Given the description of an element on the screen output the (x, y) to click on. 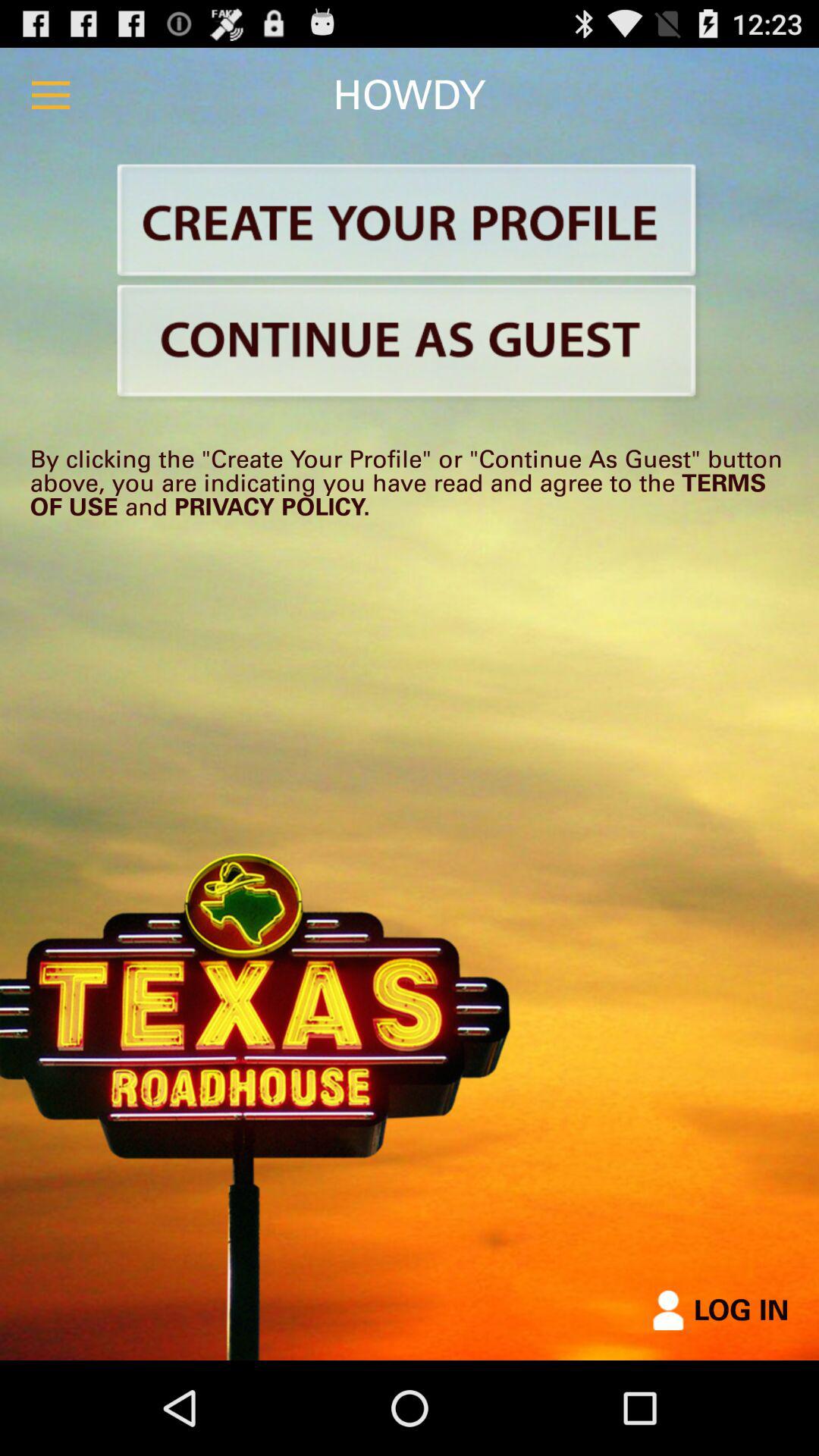
create profile button (409, 223)
